Given the description of an element on the screen output the (x, y) to click on. 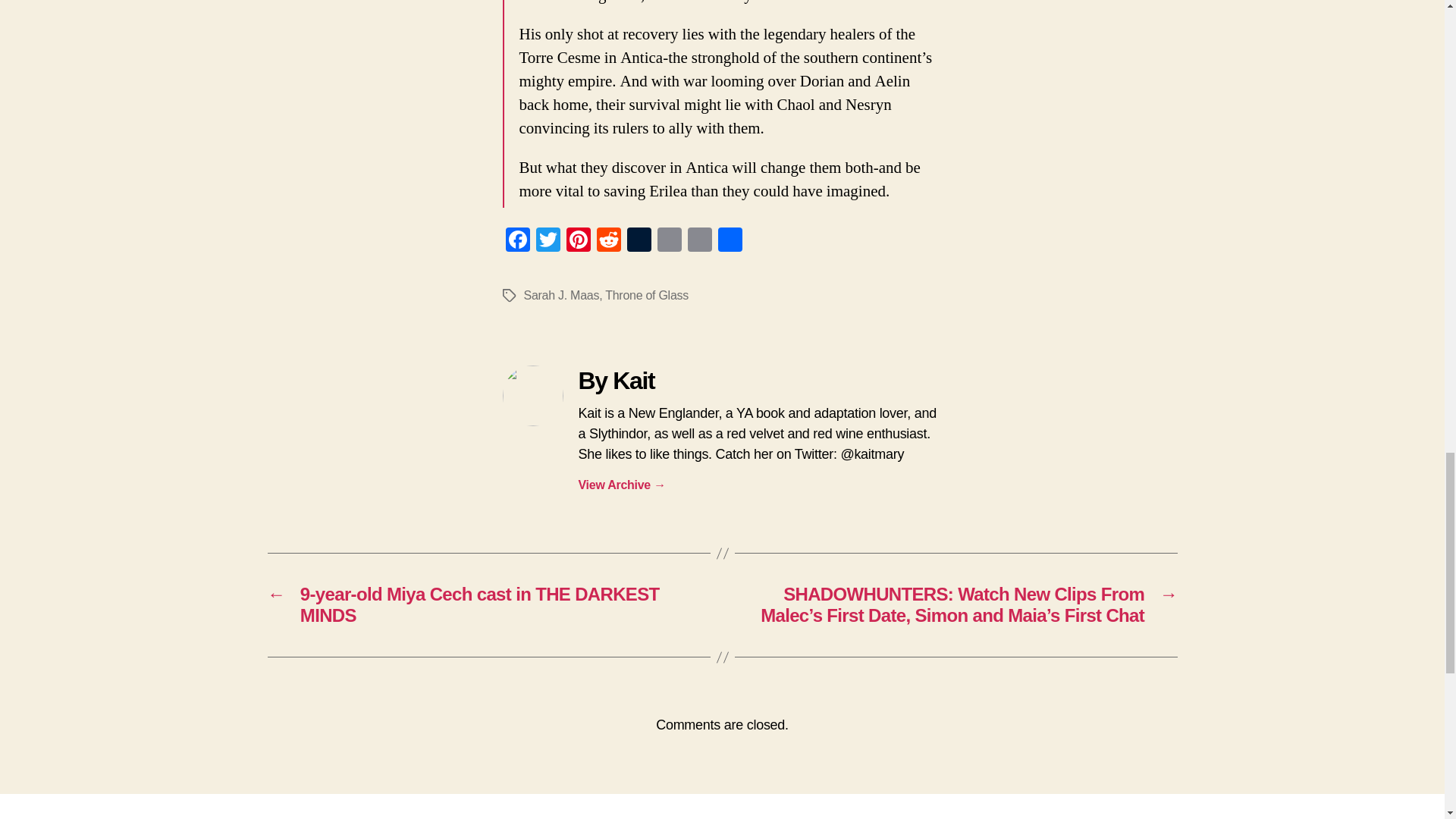
Pinterest (577, 241)
Copy Link (699, 241)
Tumblr (638, 241)
Twitter (547, 241)
Reddit (607, 241)
Facebook (517, 241)
Email (668, 241)
